Given the description of an element on the screen output the (x, y) to click on. 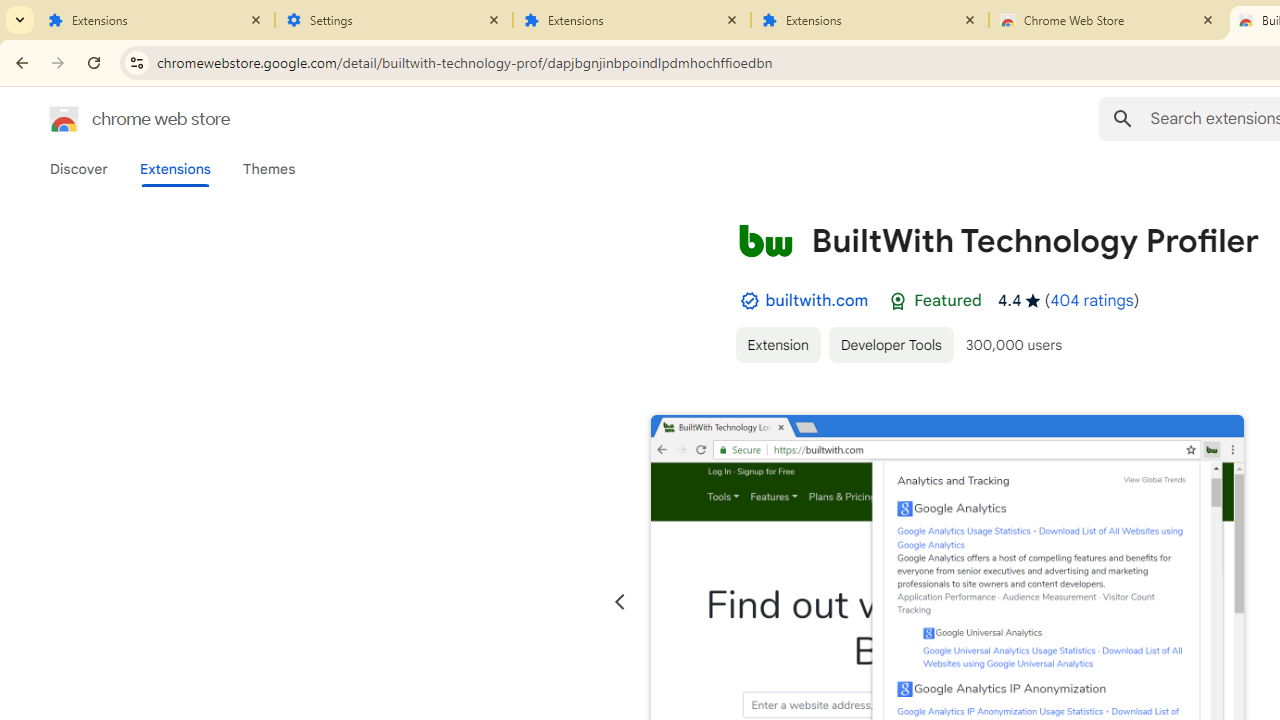
Settings (394, 20)
404 ratings (1091, 300)
Extensions (632, 20)
Chrome Web Store logo (63, 118)
Extensions (156, 20)
Extensions (174, 169)
Chrome Web Store (1108, 20)
By Established Publisher Badge (749, 301)
builtwith.com (817, 300)
Item logo image for BuiltWith Technology Profiler (765, 240)
Previous slide (619, 601)
